Given the description of an element on the screen output the (x, y) to click on. 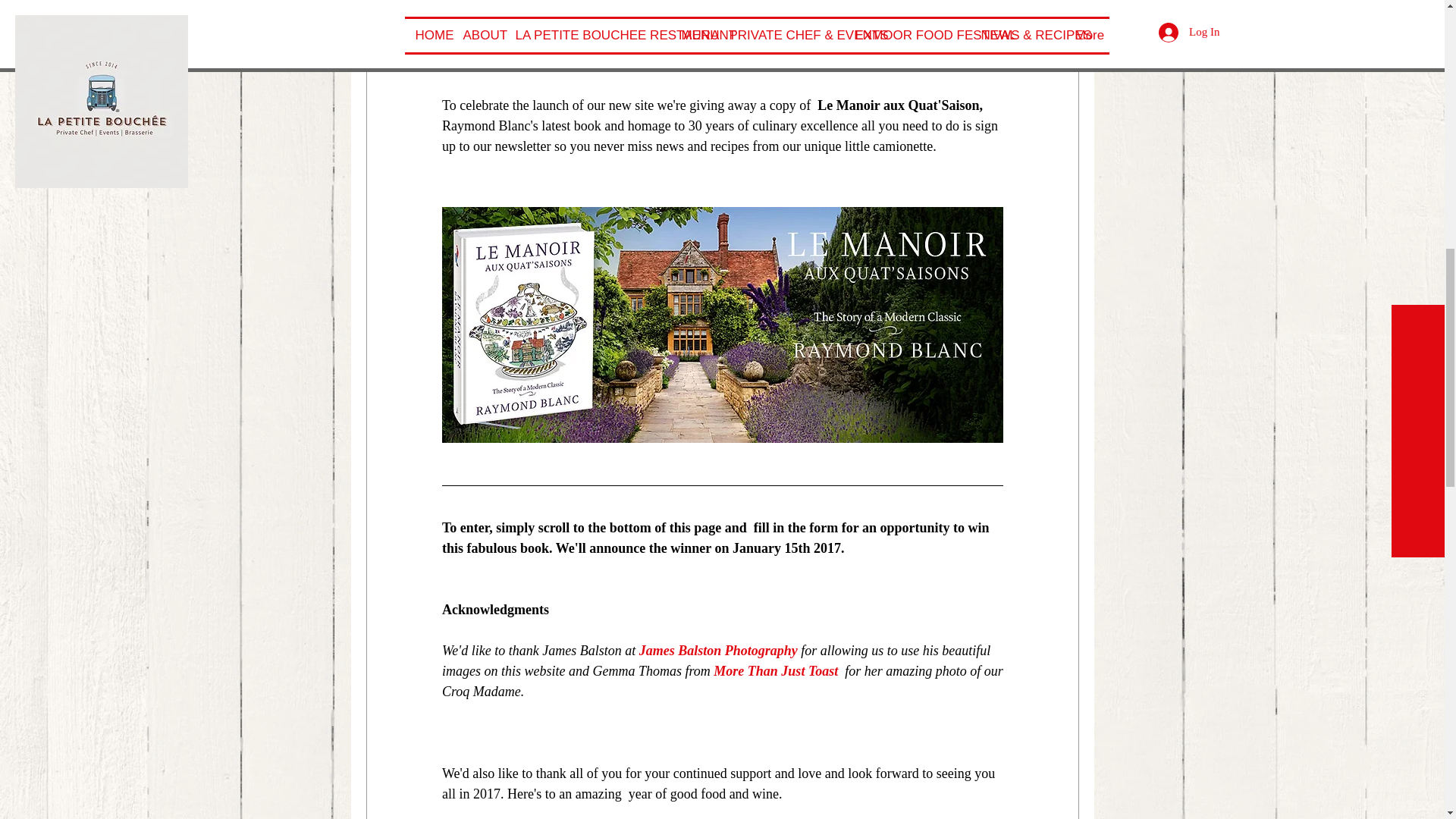
James Balston Photography (717, 650)
More Than Just Toast  (777, 670)
email address (657, 43)
